Given the description of an element on the screen output the (x, y) to click on. 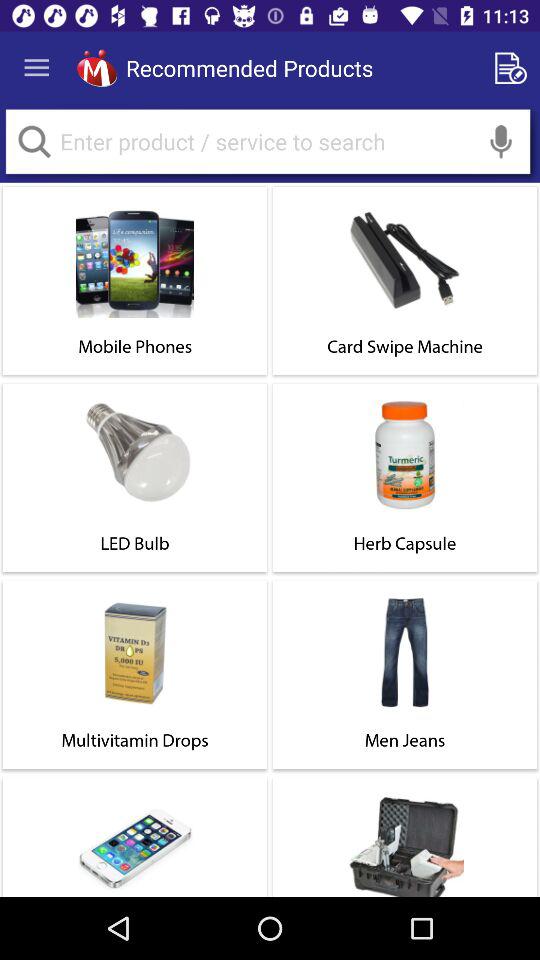
press icon next to the recommended products app (96, 67)
